Given the description of an element on the screen output the (x, y) to click on. 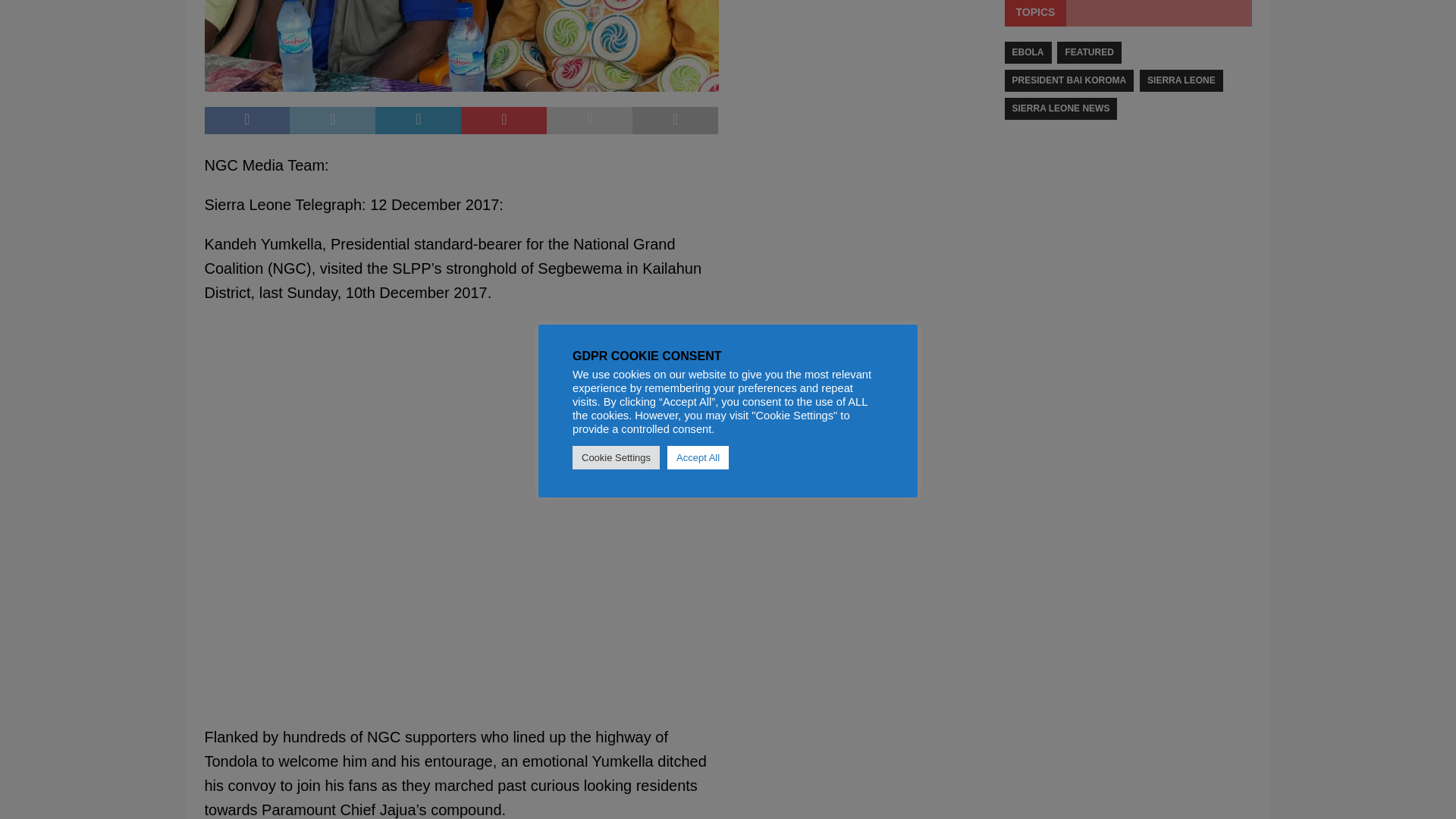
Yumkella in kailahun 2 (462, 45)
